Given the description of an element on the screen output the (x, y) to click on. 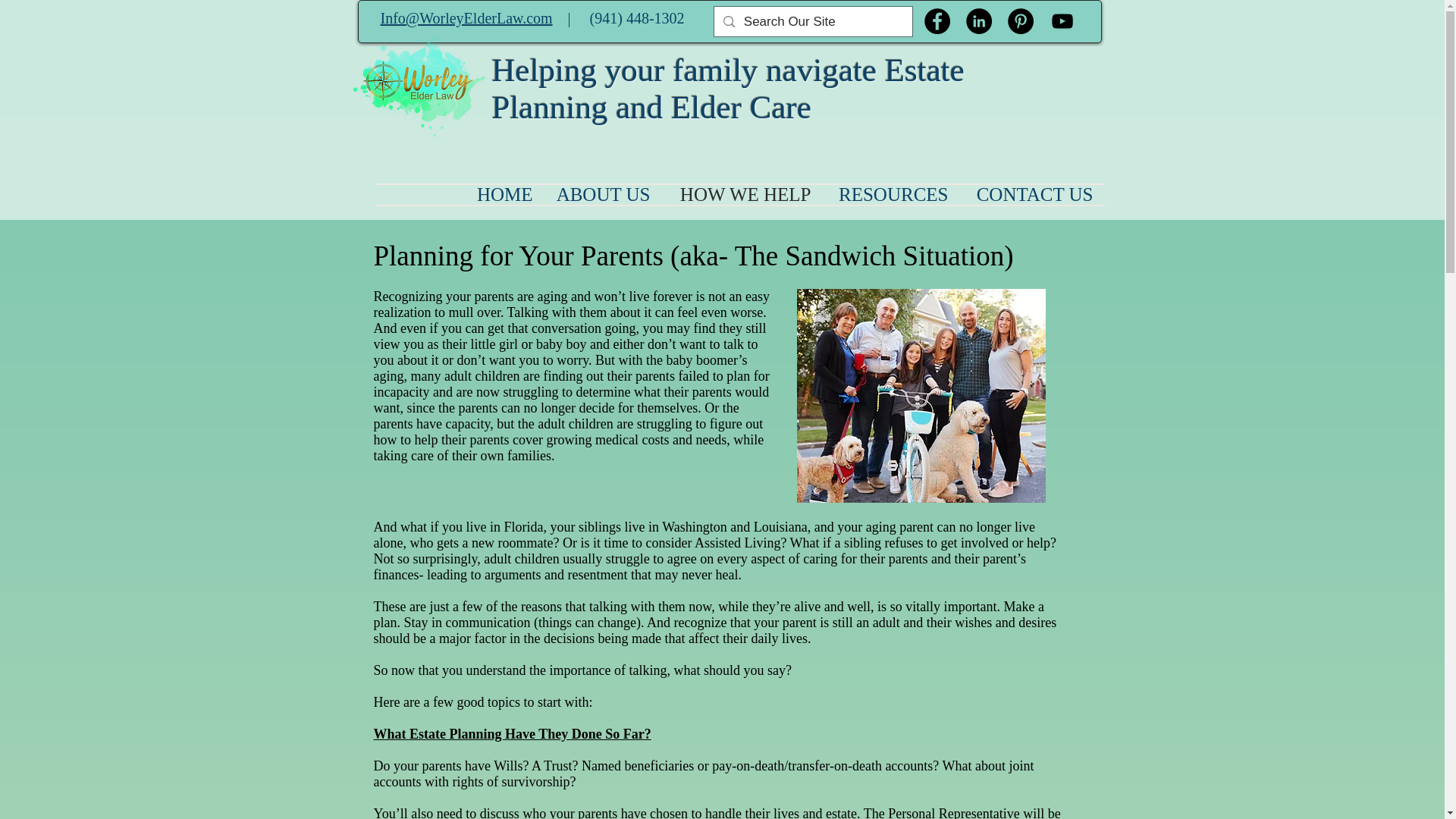
HOME (502, 194)
ABOUT US (603, 194)
HOW WE HELP (741, 194)
CONTACT US (1032, 194)
RESOURCES (890, 194)
Helping your family navigate Estate Planning and Elder Care (727, 88)
